Given the description of an element on the screen output the (x, y) to click on. 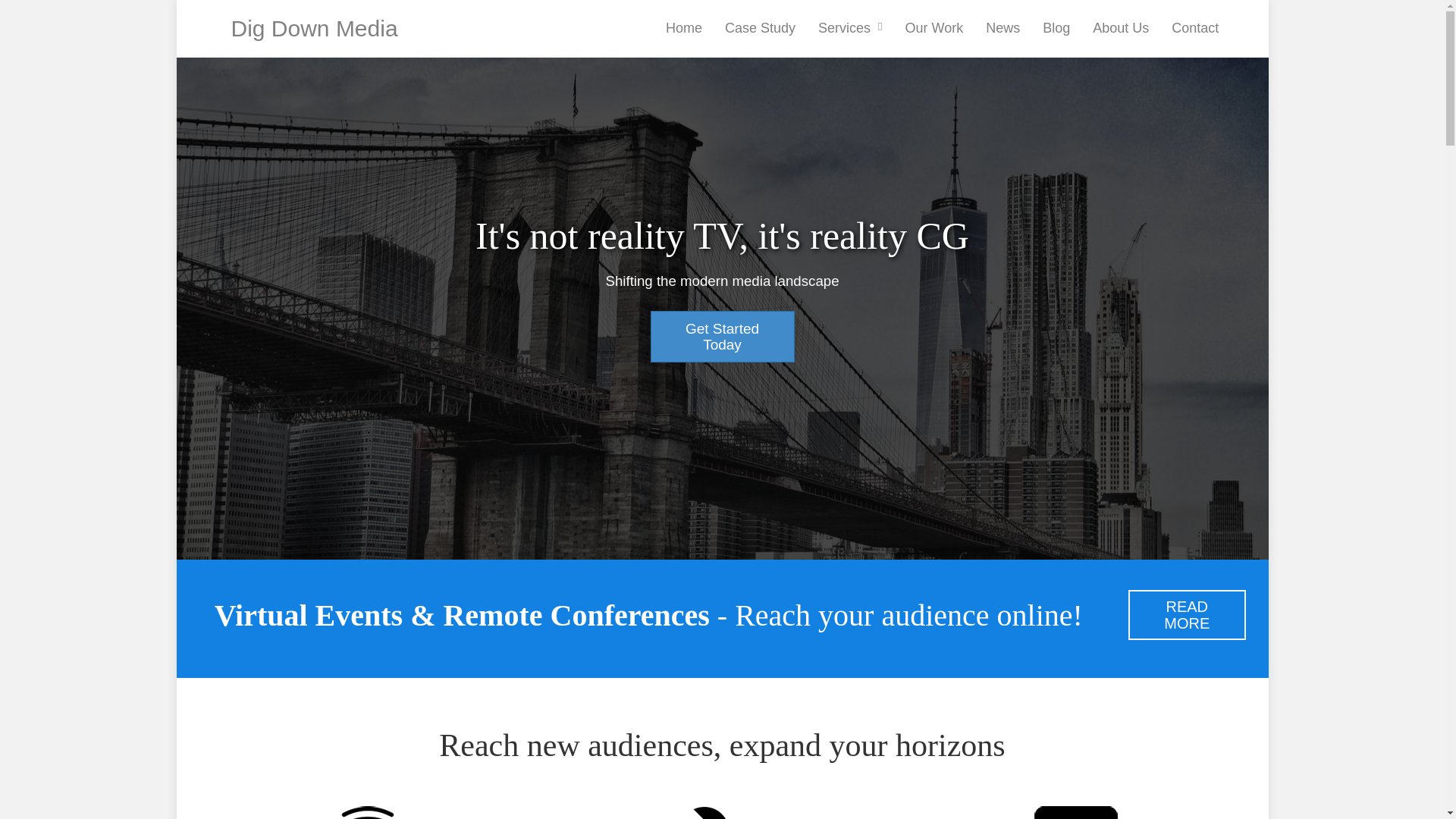
Home (683, 28)
Case Study (759, 28)
Dig Down Media (313, 31)
Contact (1195, 28)
News (1002, 28)
READ MORE (1187, 614)
About Us (1120, 28)
Blog (1055, 28)
Get Started Today (722, 336)
Services (849, 28)
Our Work (933, 28)
